Given the description of an element on the screen output the (x, y) to click on. 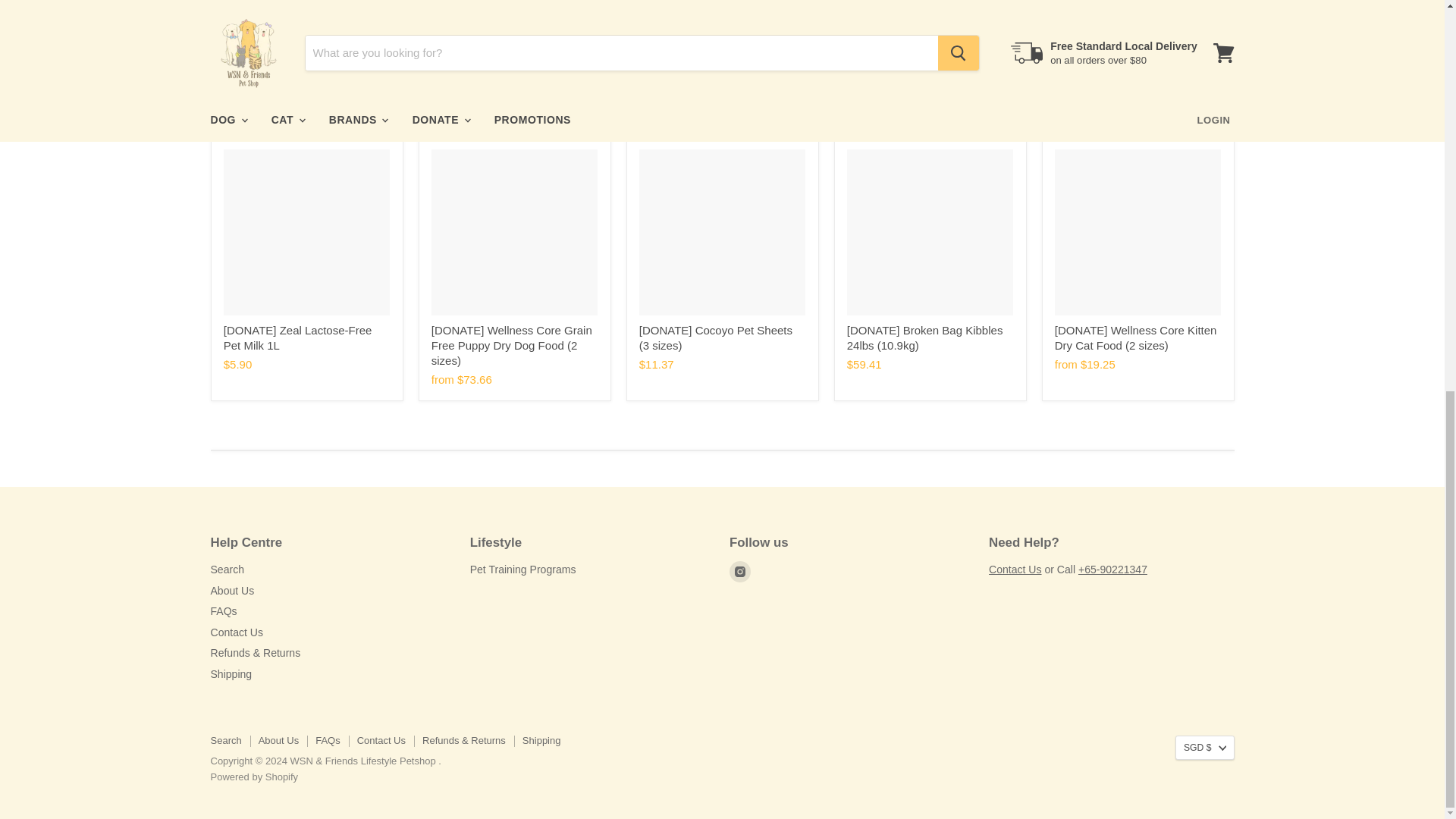
tel:6590221347 (1112, 569)
Instagram (740, 571)
